Given the description of an element on the screen output the (x, y) to click on. 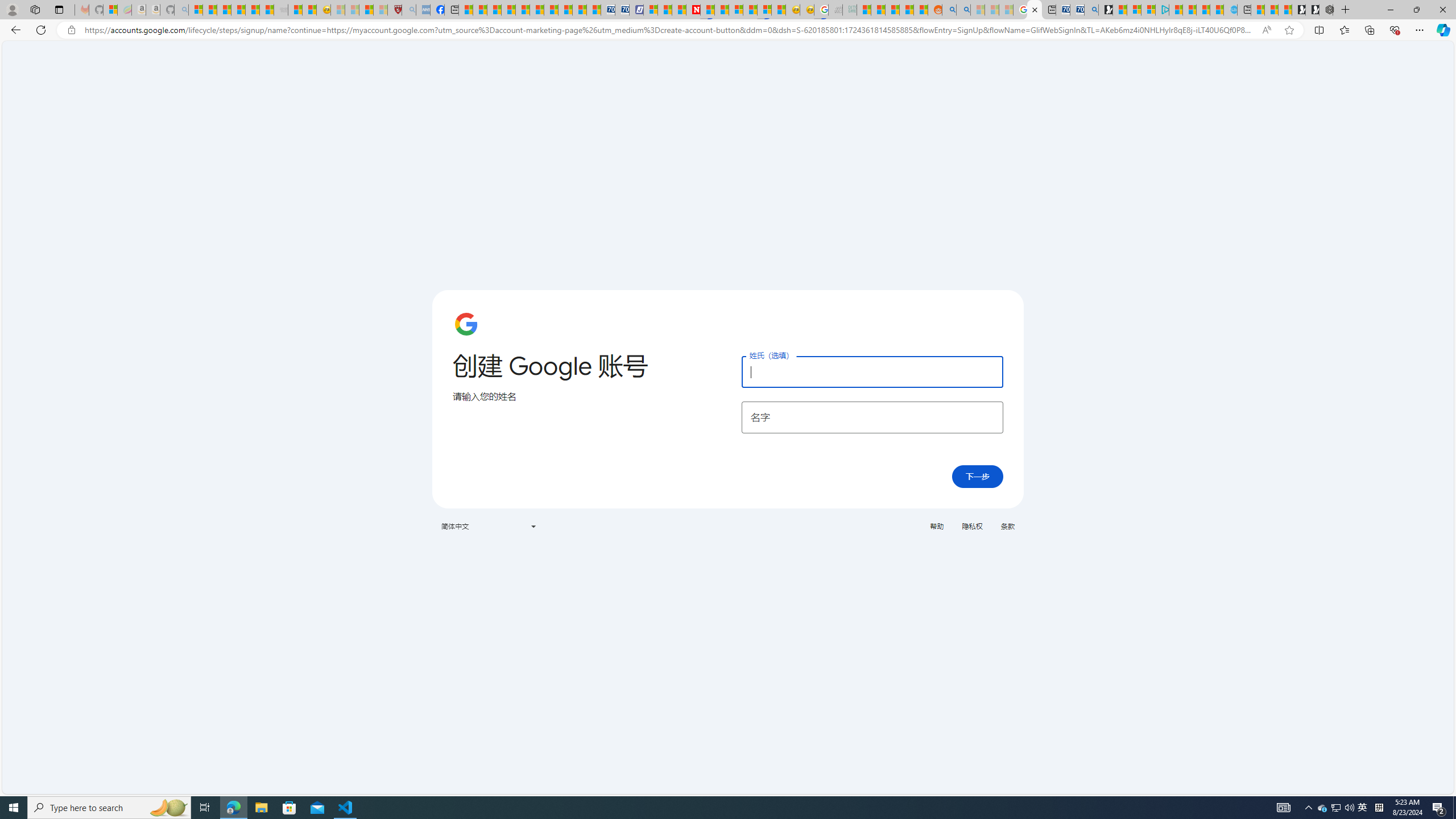
Cheap Hotels - Save70.com (622, 9)
Combat Siege - Sleeping (280, 9)
